Given the description of an element on the screen output the (x, y) to click on. 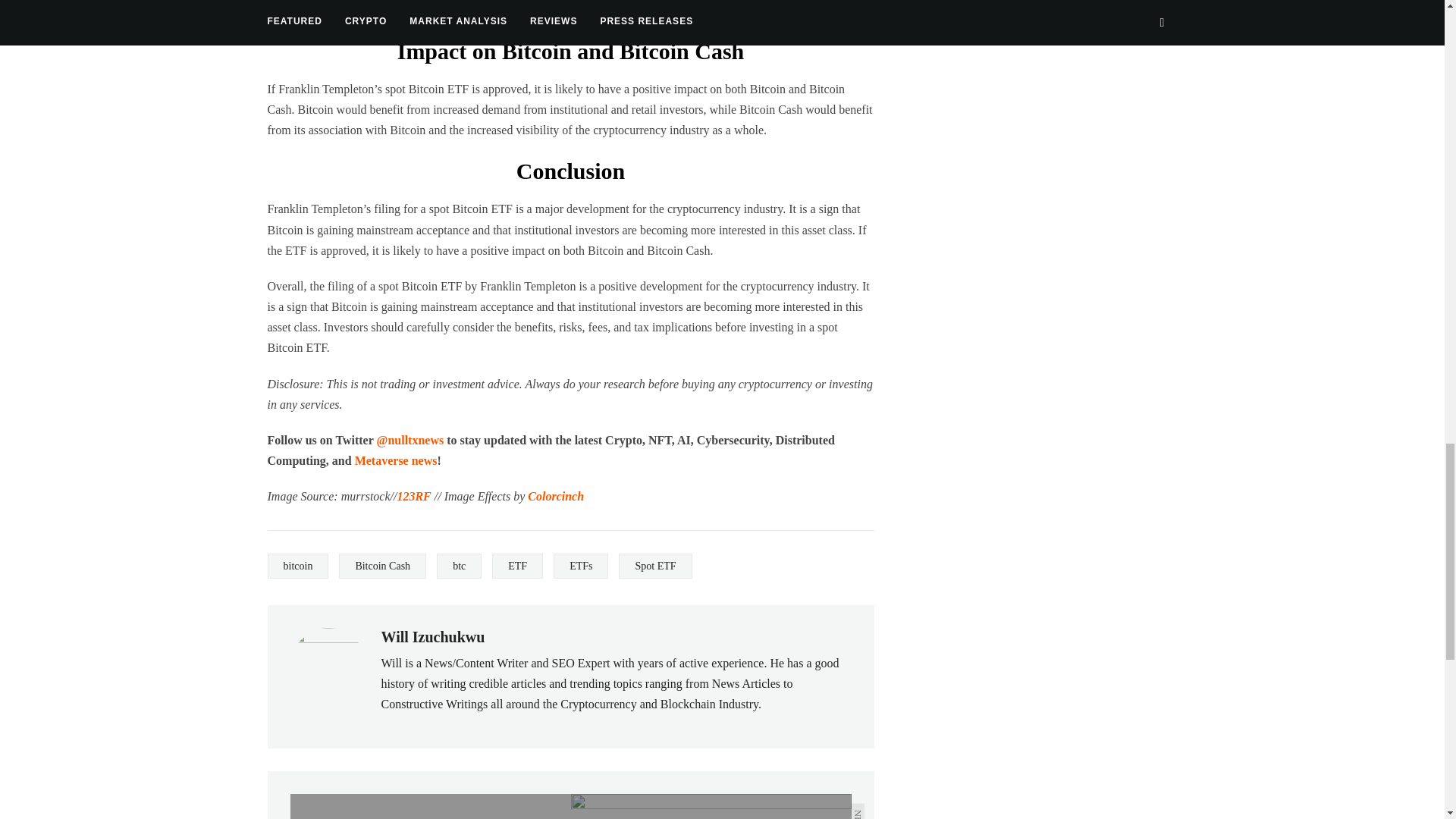
ETHEREUM RECENT DROP SIGNALS CAPITULATION MOVES (429, 806)
Metaverse news (396, 460)
btc (458, 565)
ETFs (580, 565)
Spot ETF (654, 565)
Posts by Will Izuchukwu (432, 636)
Bitcoin Cash (382, 565)
bitcoin (297, 565)
Ethereum Recent Drop Signals Capitulation Moves (429, 806)
ETF (517, 565)
Colorcinch (555, 495)
Will Izuchukwu (432, 636)
123RF (413, 495)
